Given the description of an element on the screen output the (x, y) to click on. 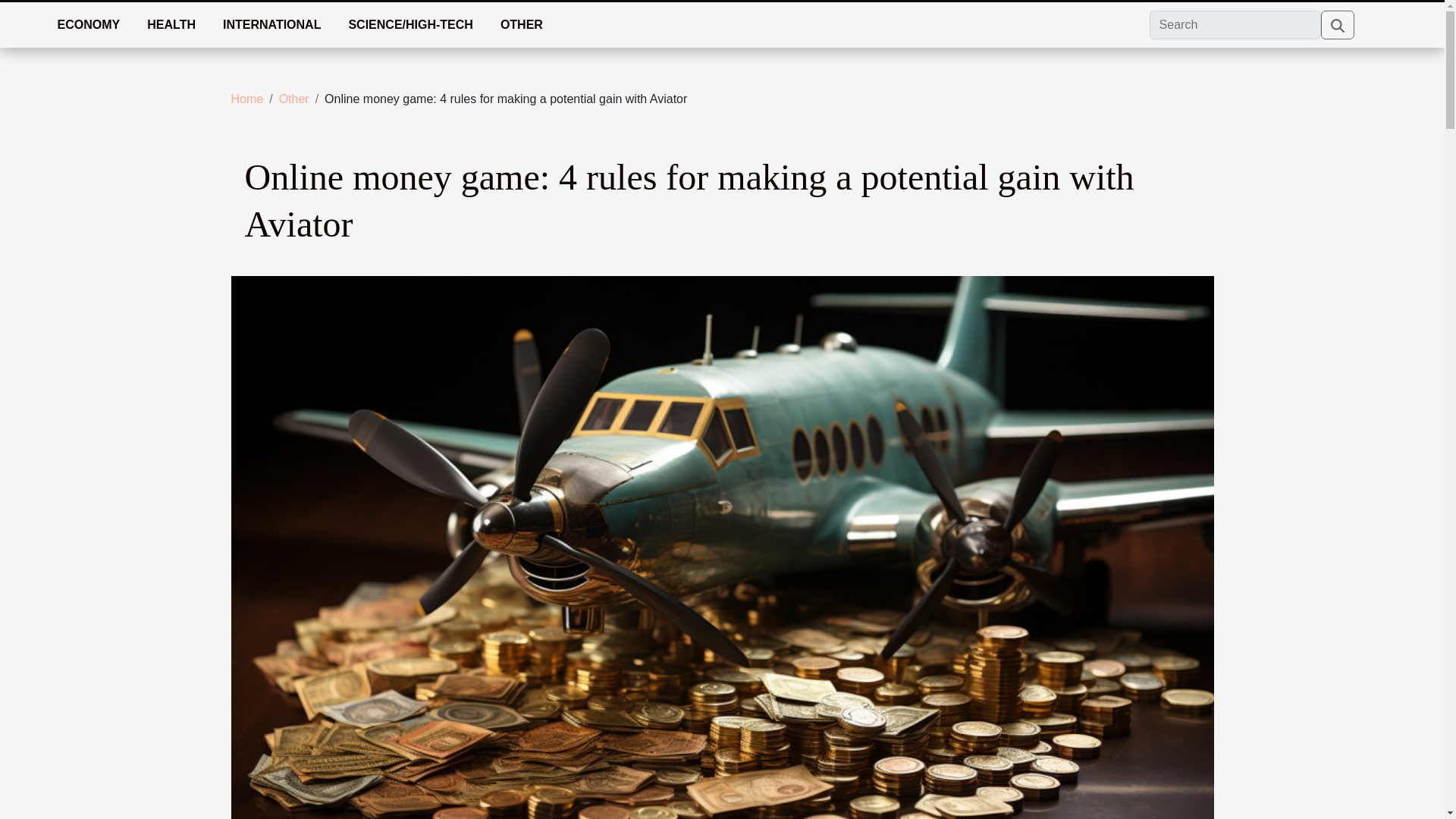
Other (293, 98)
Other (293, 98)
ECONOMY (88, 24)
Home (246, 98)
OTHER (521, 24)
INTERNATIONAL (271, 24)
HEALTH (171, 24)
